Given the description of an element on the screen output the (x, y) to click on. 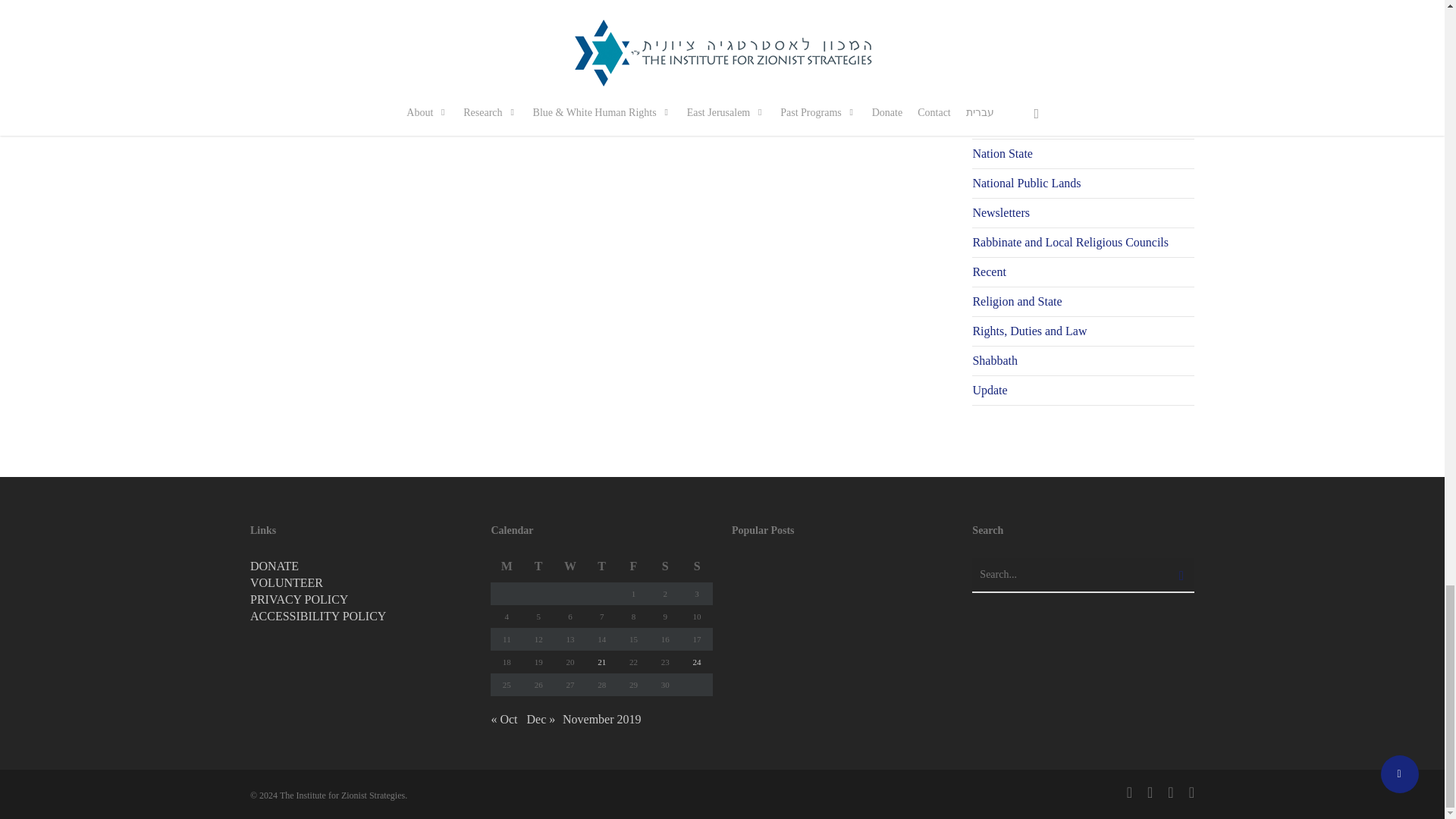
Monday (506, 569)
Search for: (1082, 574)
Saturday (665, 569)
Wednesday (570, 569)
Tuesday (538, 569)
Friday (633, 569)
Thursday (601, 569)
Sunday (697, 569)
